Given the description of an element on the screen output the (x, y) to click on. 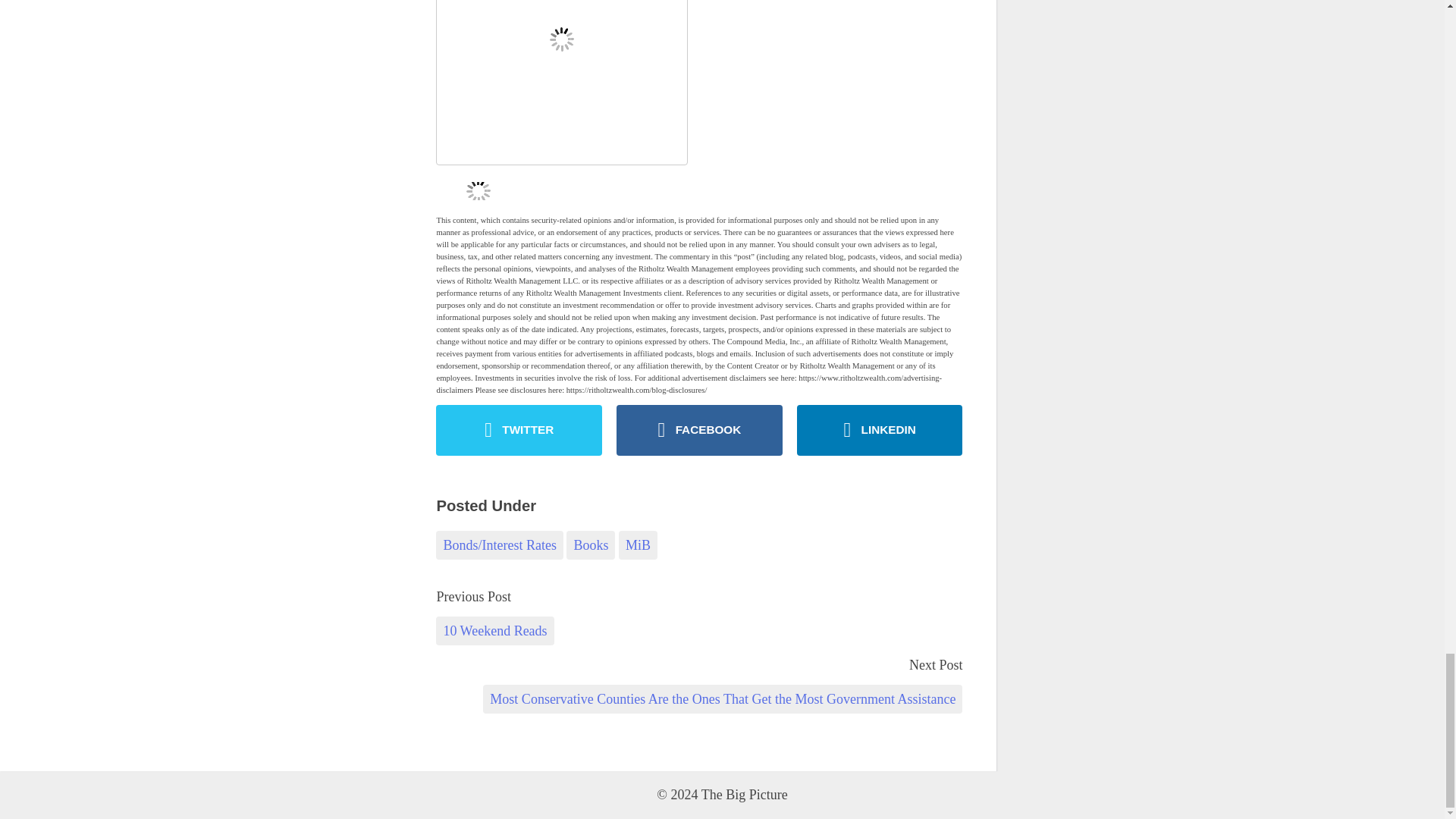
FACEBOOK (699, 429)
TWITTER (518, 429)
MiB (638, 544)
LINKEDIN (879, 429)
Books (590, 544)
